Given the description of an element on the screen output the (x, y) to click on. 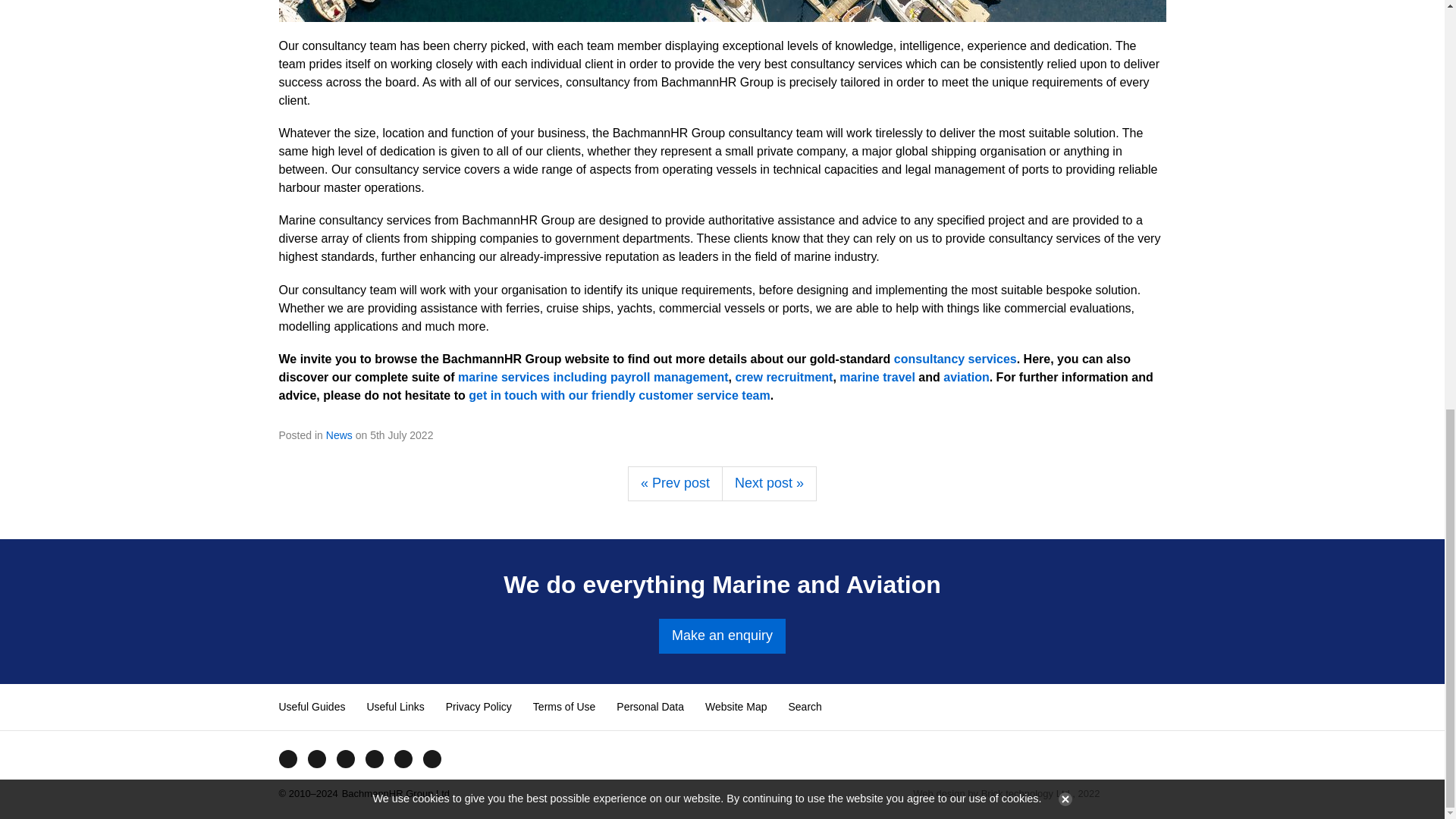
Instagram (373, 758)
Twitter (315, 758)
Facebook (287, 758)
Newsletter (430, 758)
Website designed and maintained by Brick technology Ltd. (1139, 793)
YouTube (344, 758)
LinkedIn (402, 758)
